Given the description of an element on the screen output the (x, y) to click on. 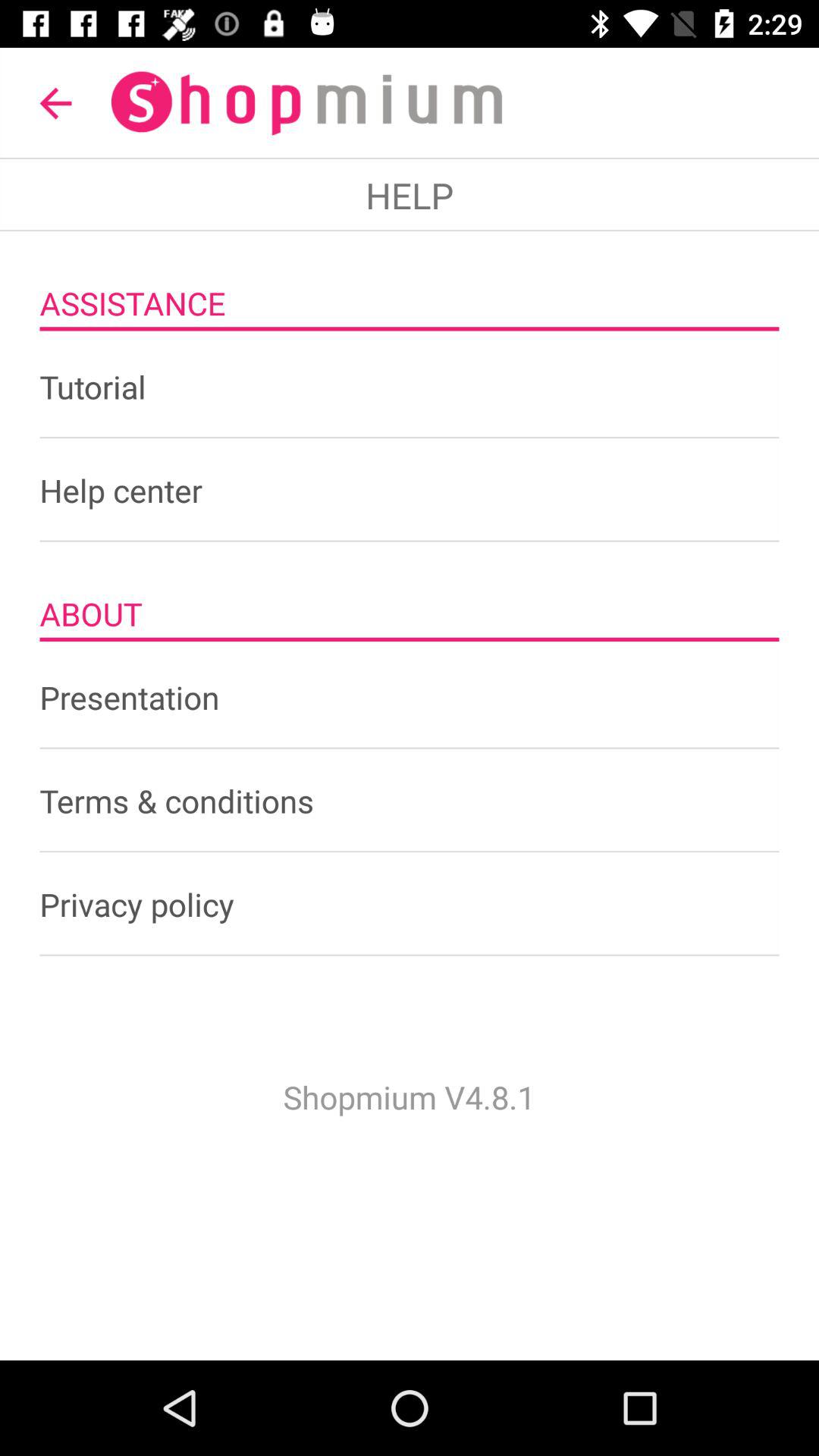
launch the item above the about icon (409, 490)
